Given the description of an element on the screen output the (x, y) to click on. 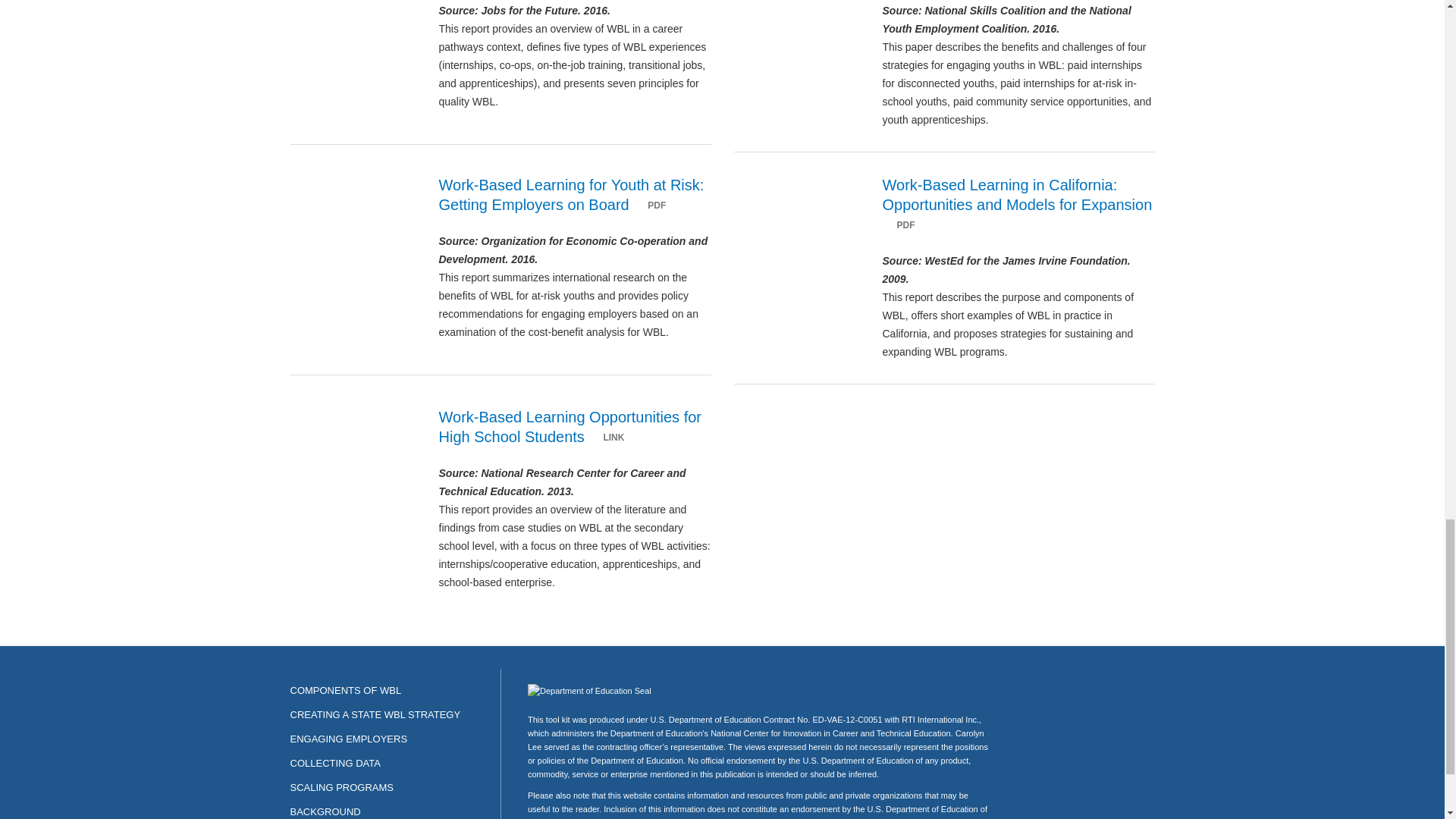
COMPONENTS OF WBL (345, 690)
CREATING A STATE WBL STRATEGY (374, 714)
